Given the description of an element on the screen output the (x, y) to click on. 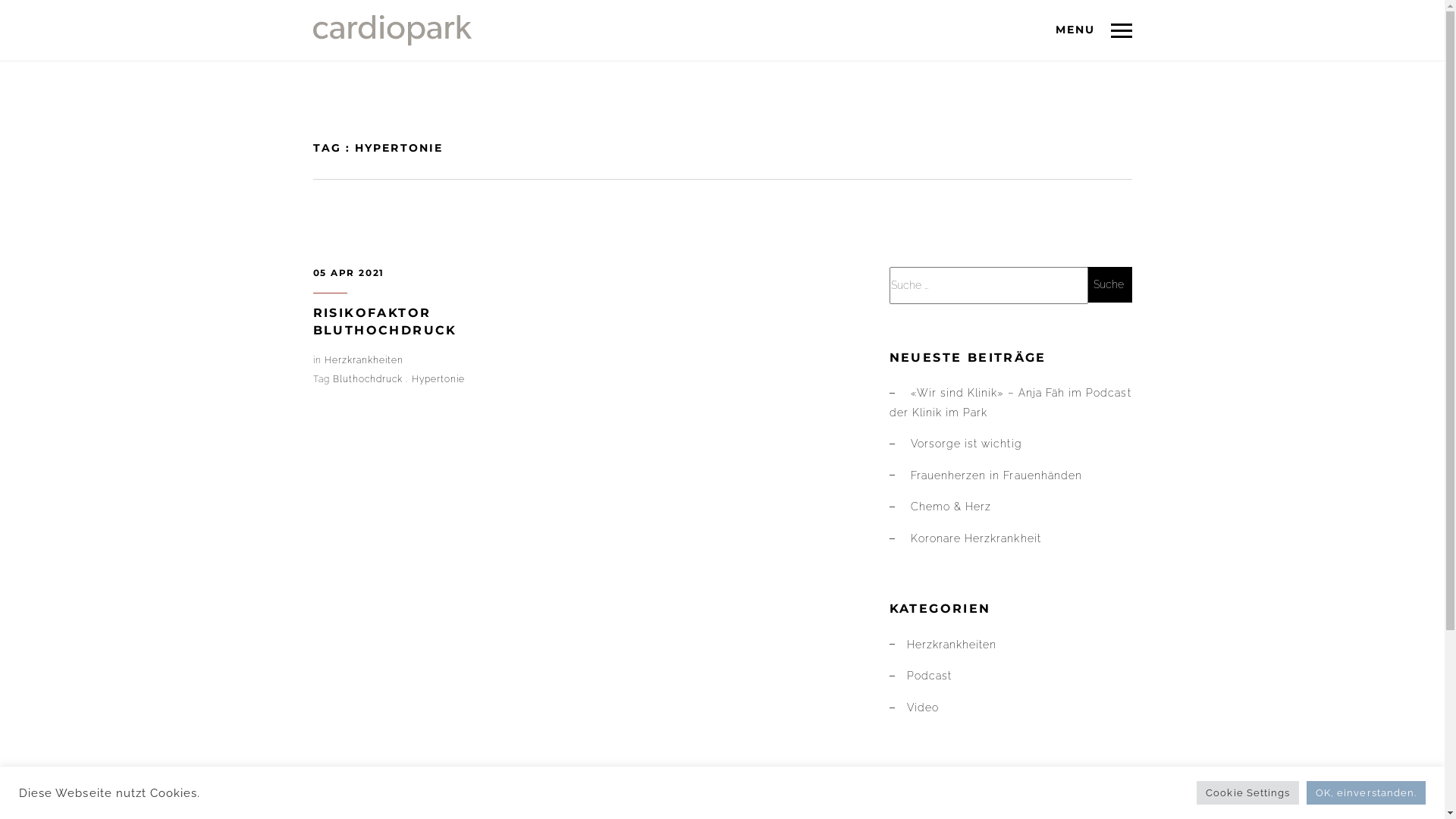
Herzkrankheiten Element type: text (951, 644)
Chemo & Herz Element type: text (950, 506)
Hypertonie Element type: text (438, 378)
Podcast Element type: text (928, 675)
Koronare Herzkrankheit Element type: text (975, 538)
Bluthochdruck Element type: text (367, 378)
Video Element type: text (922, 707)
Herzkrankheiten Element type: text (364, 359)
Cookie Settings Element type: text (1247, 792)
Vorsorge ist wichtig Element type: text (966, 443)
OK, einverstanden. Element type: text (1365, 792)
05 APR 2021 Element type: text (348, 272)
Suche Element type: text (1108, 284)
RISIKOFAKTOR BLUTHOCHDRUCK Element type: text (384, 320)
